Given the description of an element on the screen output the (x, y) to click on. 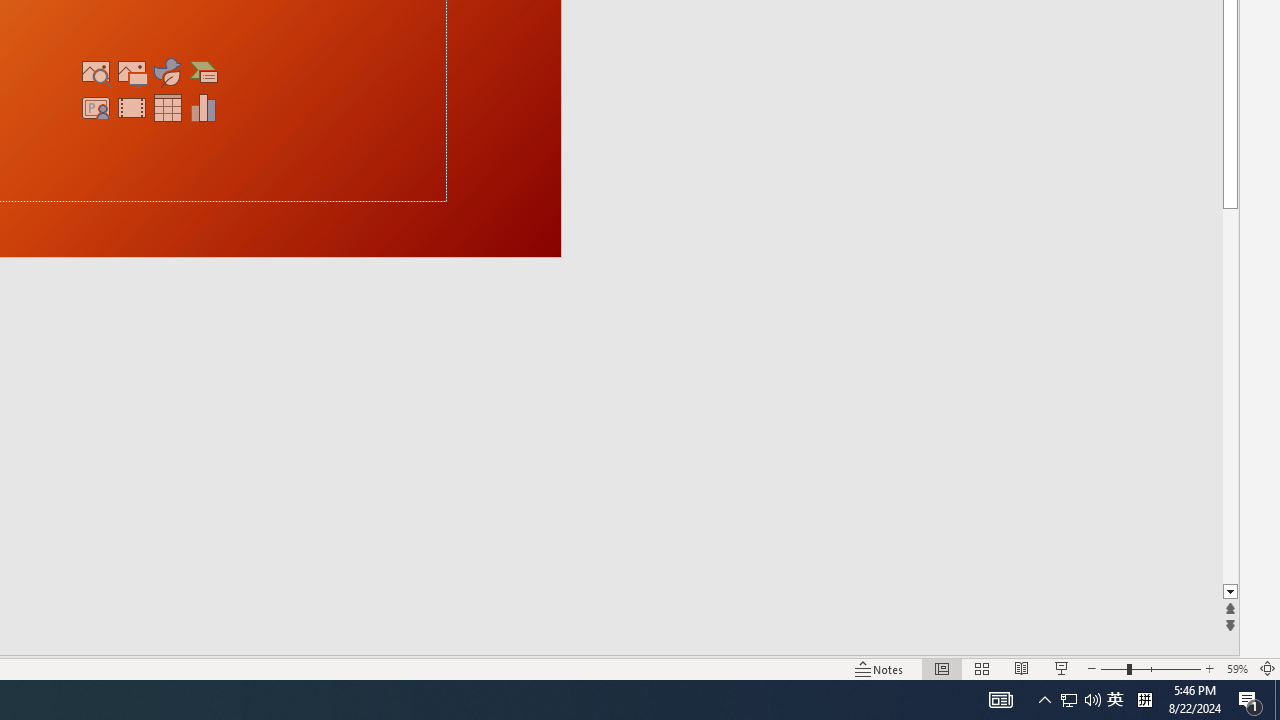
Zoom 59% (1236, 668)
